Given the description of an element on the screen output the (x, y) to click on. 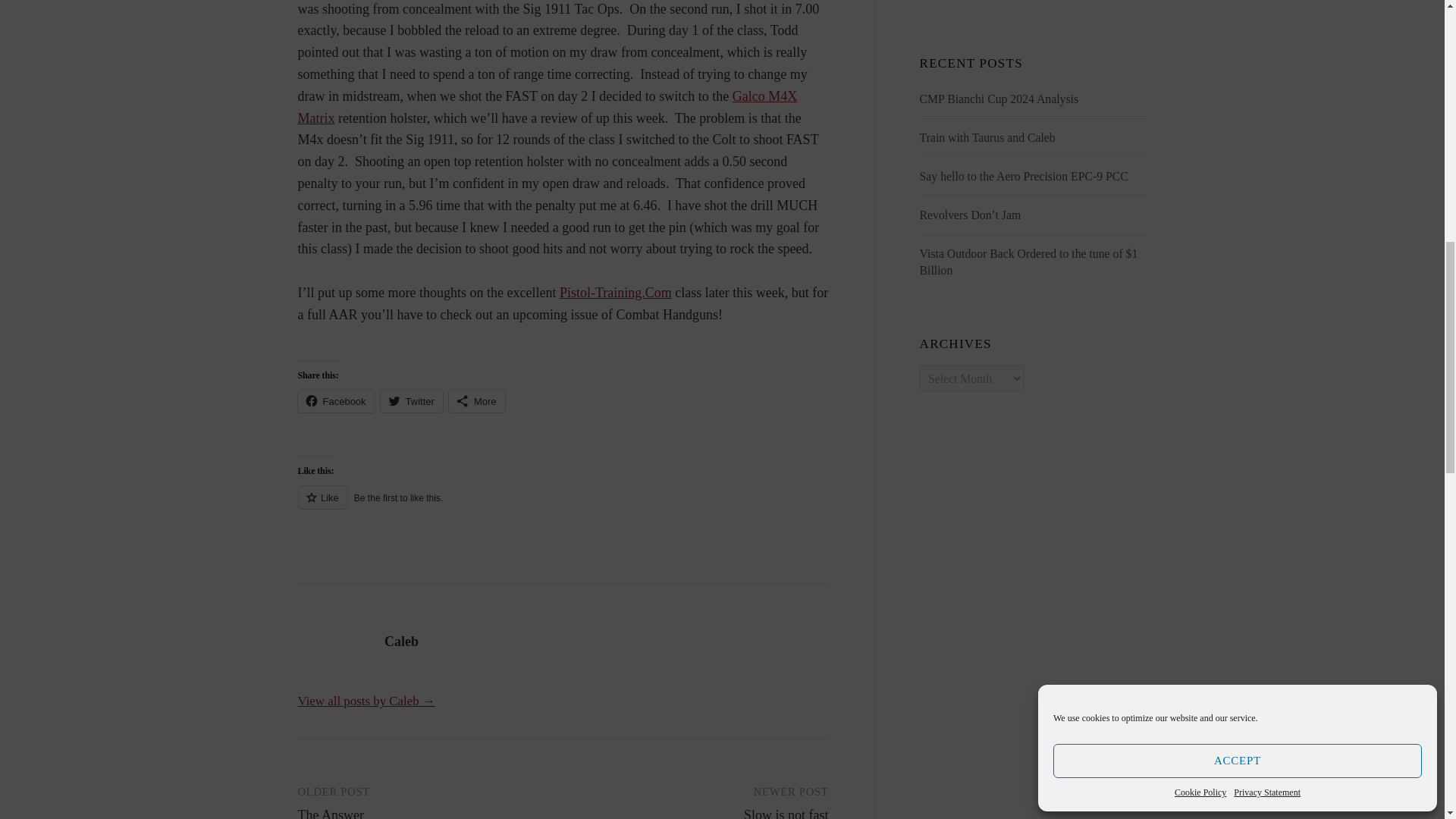
Galco M4X Matrix (546, 107)
The Answer (329, 813)
Click to share on Twitter (411, 400)
Click to share on Facebook (335, 400)
Twitter (411, 400)
Pistol-Training.Com (615, 292)
More (476, 400)
Like or Reblog (562, 506)
Facebook (335, 400)
